Given the description of an element on the screen output the (x, y) to click on. 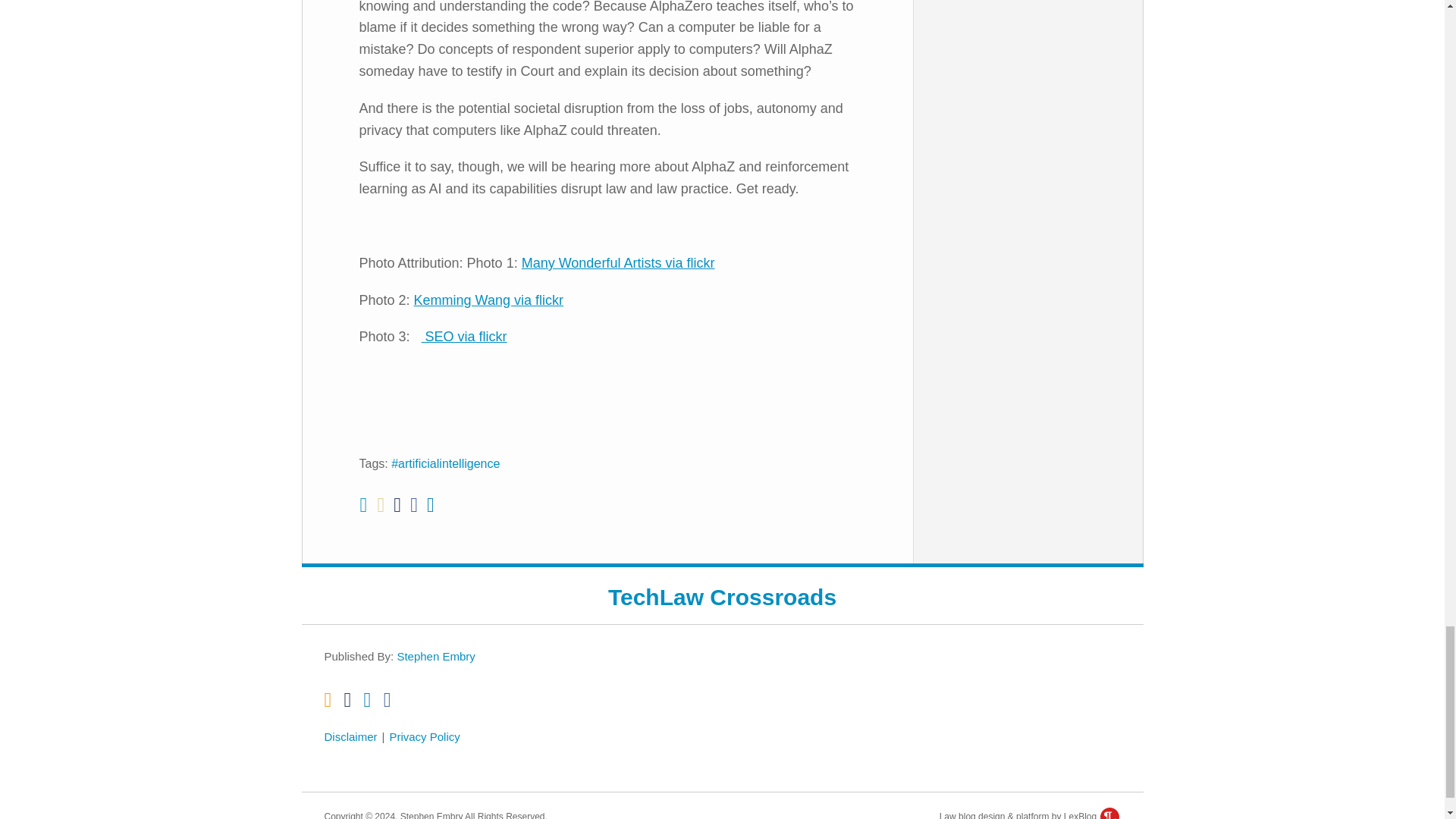
SEO via flickr (464, 336)
Kemming Wang via flickr (488, 299)
Many Wonderful Artists via flickr (617, 263)
TechLaw Crossroads (721, 596)
Disclaimer (350, 737)
Stephen Embry (435, 656)
